Given the description of an element on the screen output the (x, y) to click on. 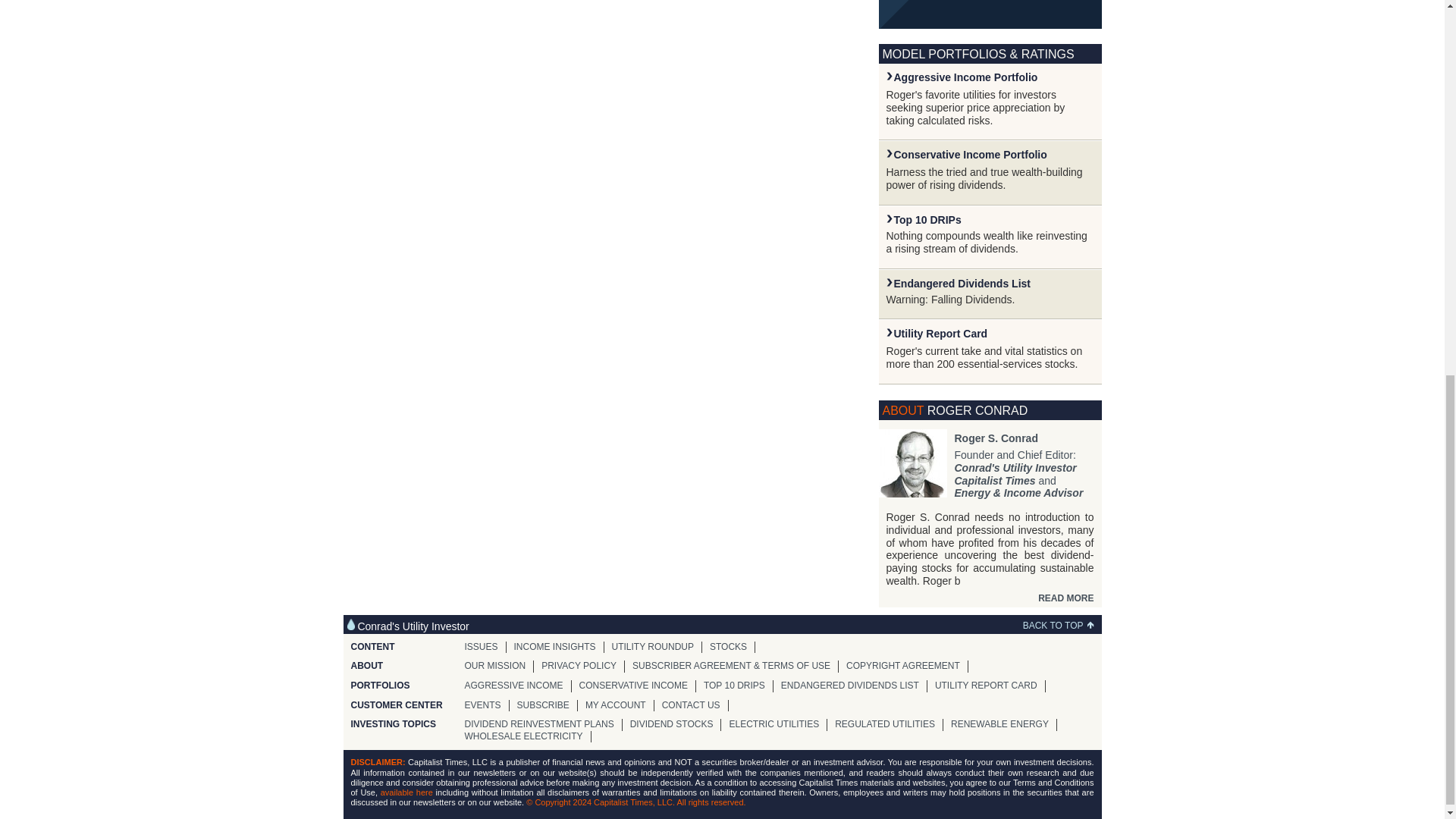
BACK TO TOP (1062, 624)
Roger S. Conrad (994, 438)
Capitalist Times (994, 480)
Top 10 DRIPs (926, 219)
Conrad's Utility Investor (1014, 467)
Conservative Income Portfolio (969, 154)
Utility Report Card (940, 333)
READ MORE (1065, 597)
Endangered Dividends List (961, 283)
Aggressive Income Portfolio (964, 77)
